Given the description of an element on the screen output the (x, y) to click on. 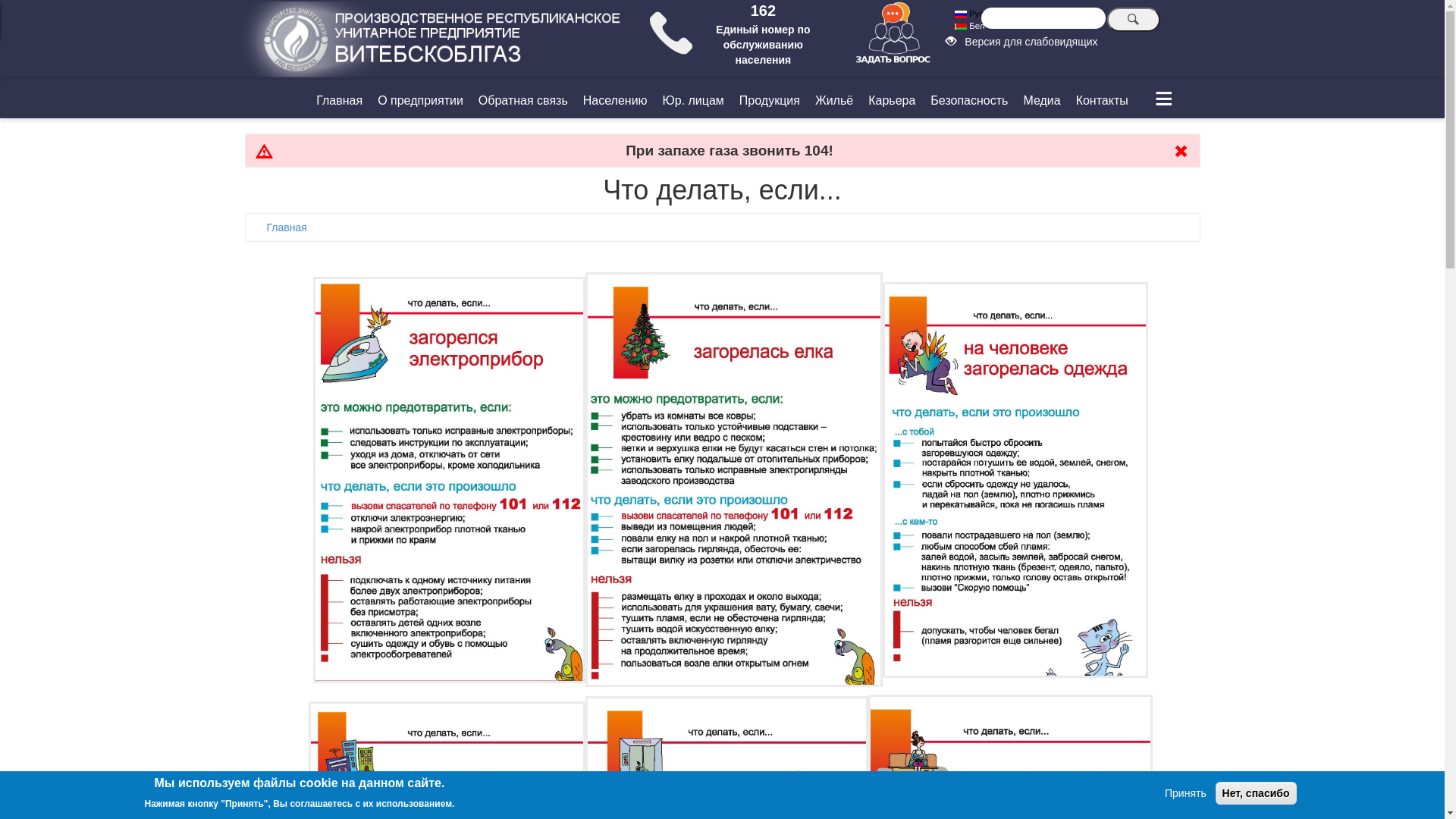
162 Element type: text (762, 10)
  Element type: text (671, 39)
